Given the description of an element on the screen output the (x, y) to click on. 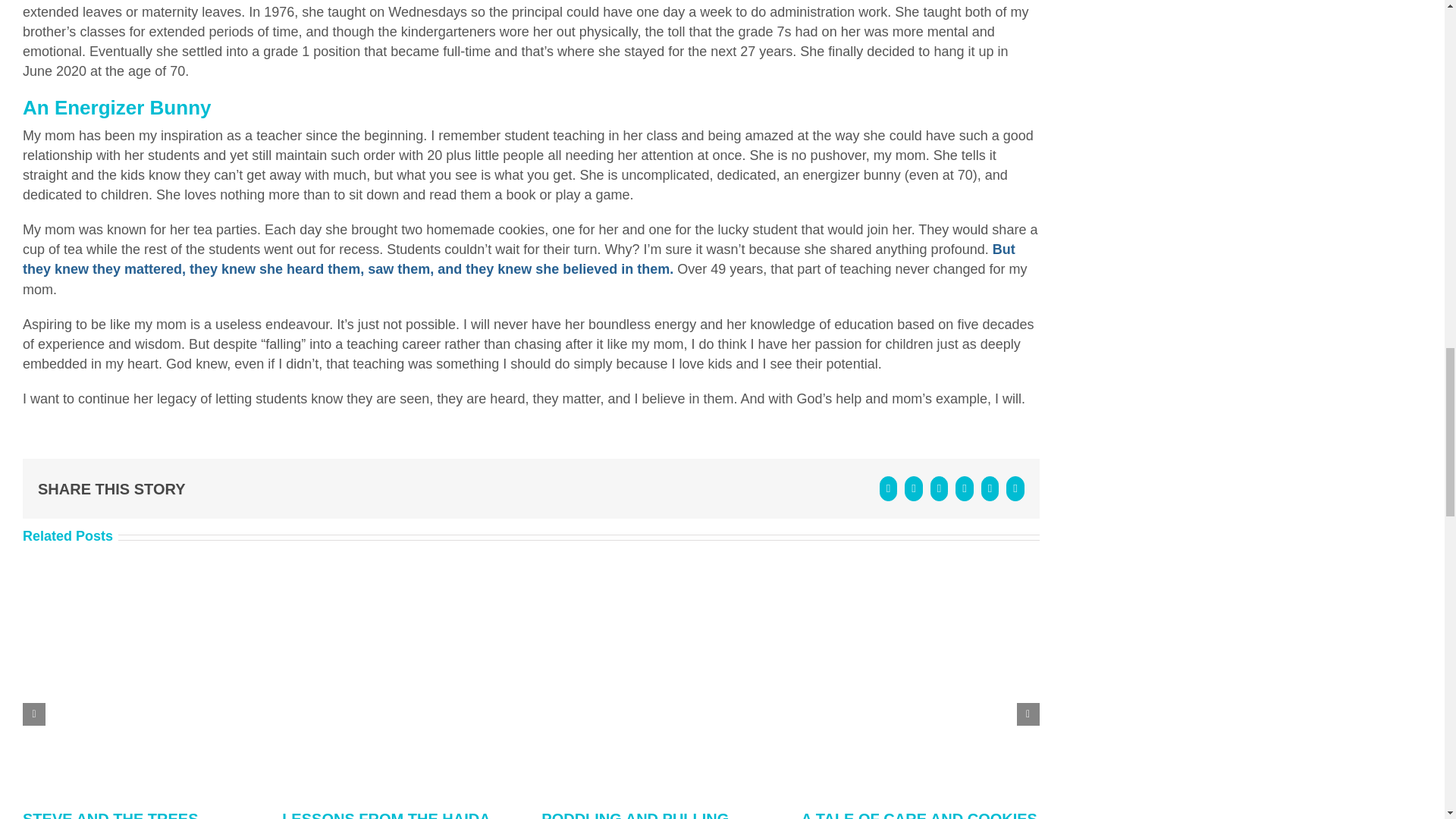
LESSONS FROM THE HAIDA GWAII (385, 814)
STEVE AND THE TREES (110, 814)
PODDLING AND PULLING WEEDS (635, 814)
